Given the description of an element on the screen output the (x, y) to click on. 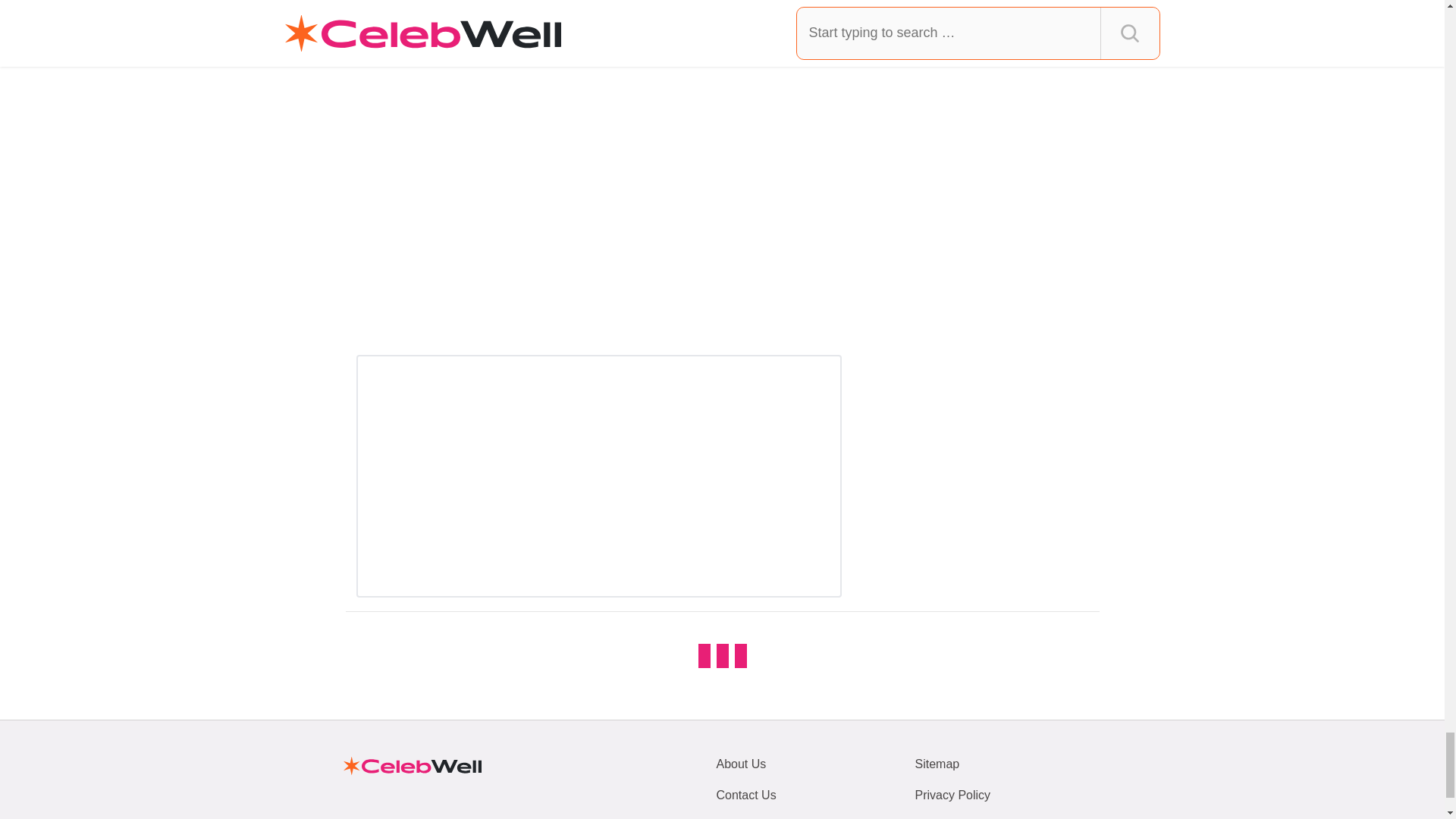
Homepage of Celebwell (411, 766)
